Given the description of an element on the screen output the (x, y) to click on. 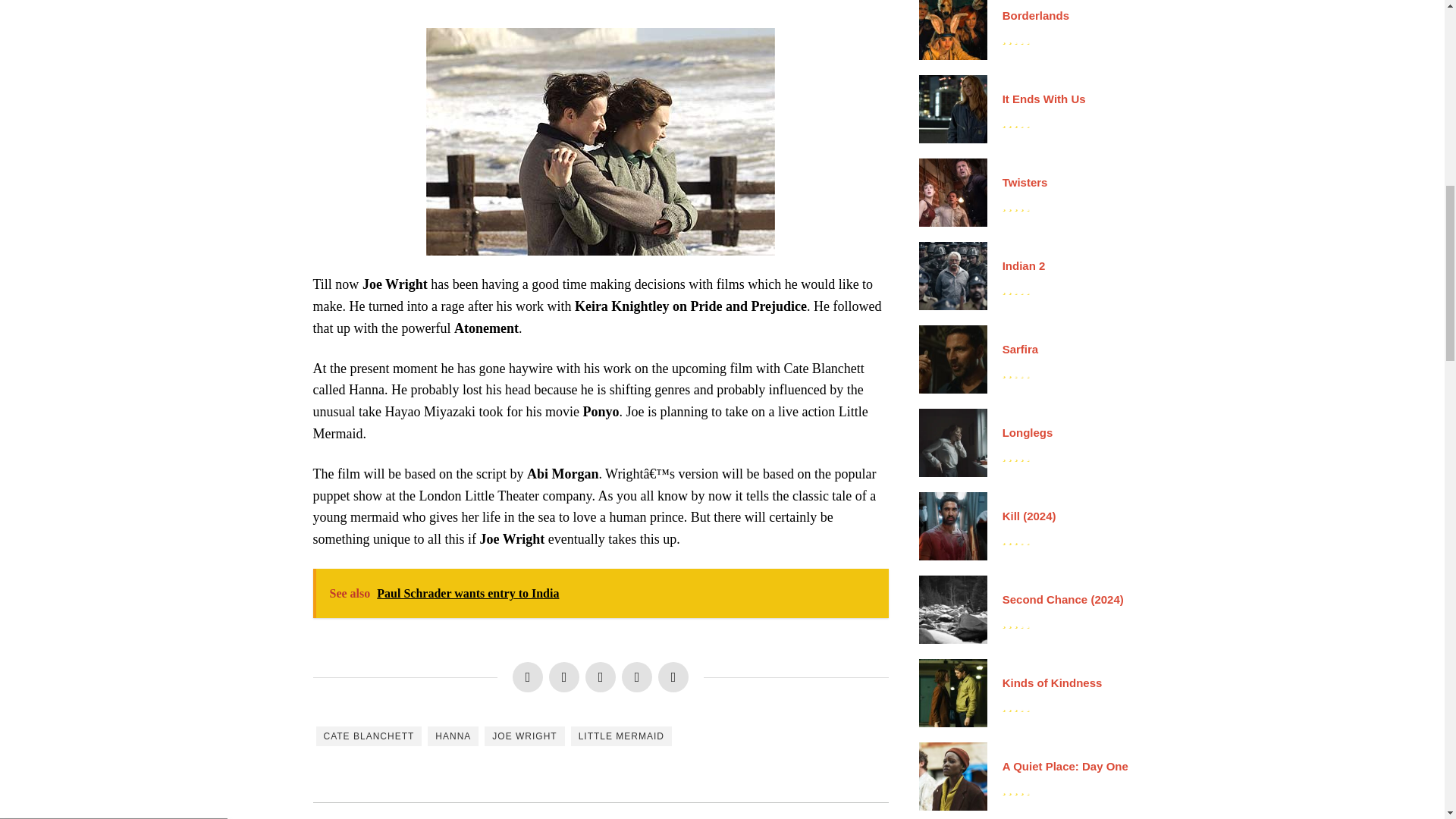
Whatsapp (636, 676)
Facebook (527, 676)
atonement (600, 141)
Twitter (563, 676)
Email (673, 676)
Pinterest (600, 676)
